Given the description of an element on the screen output the (x, y) to click on. 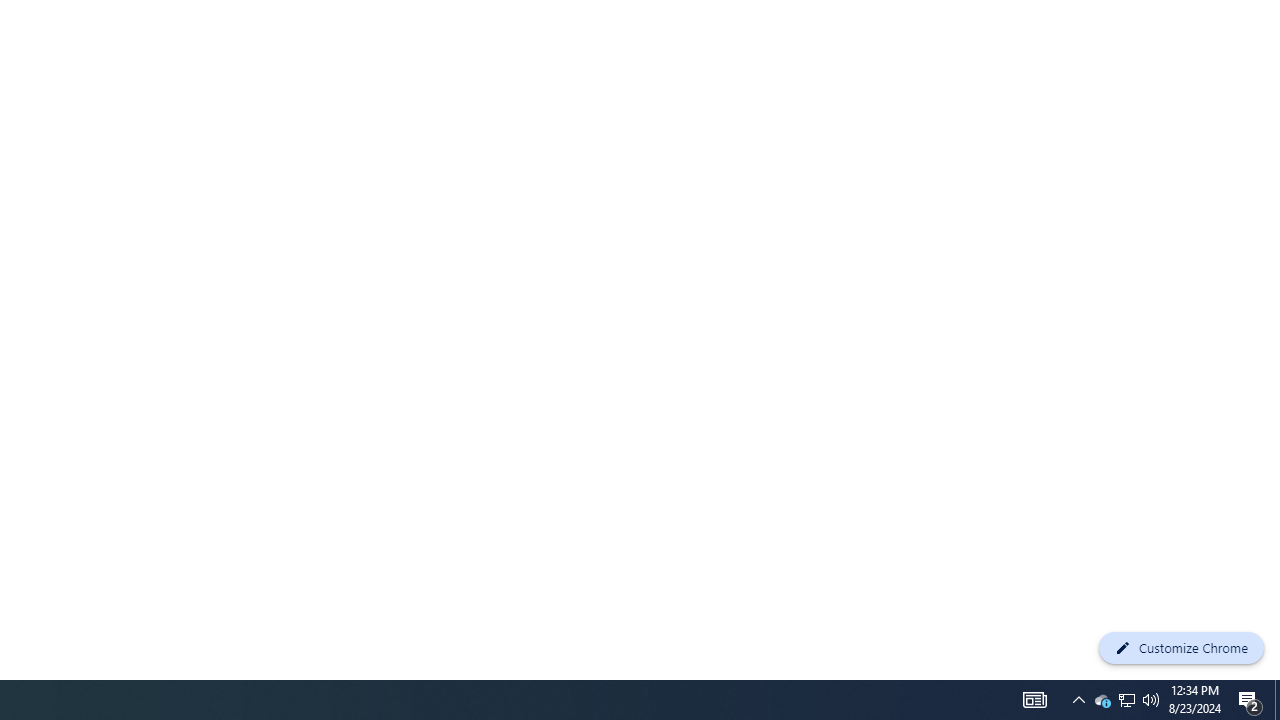
Show desktop (1277, 699)
Notification Chevron (1078, 699)
AutomationID: 4105 (1034, 699)
Q2790: 100% (1151, 699)
Action Center, 2 new notifications (1250, 699)
User Promoted Notification Area (1102, 699)
Customize Chrome (1126, 699)
